Given the description of an element on the screen output the (x, y) to click on. 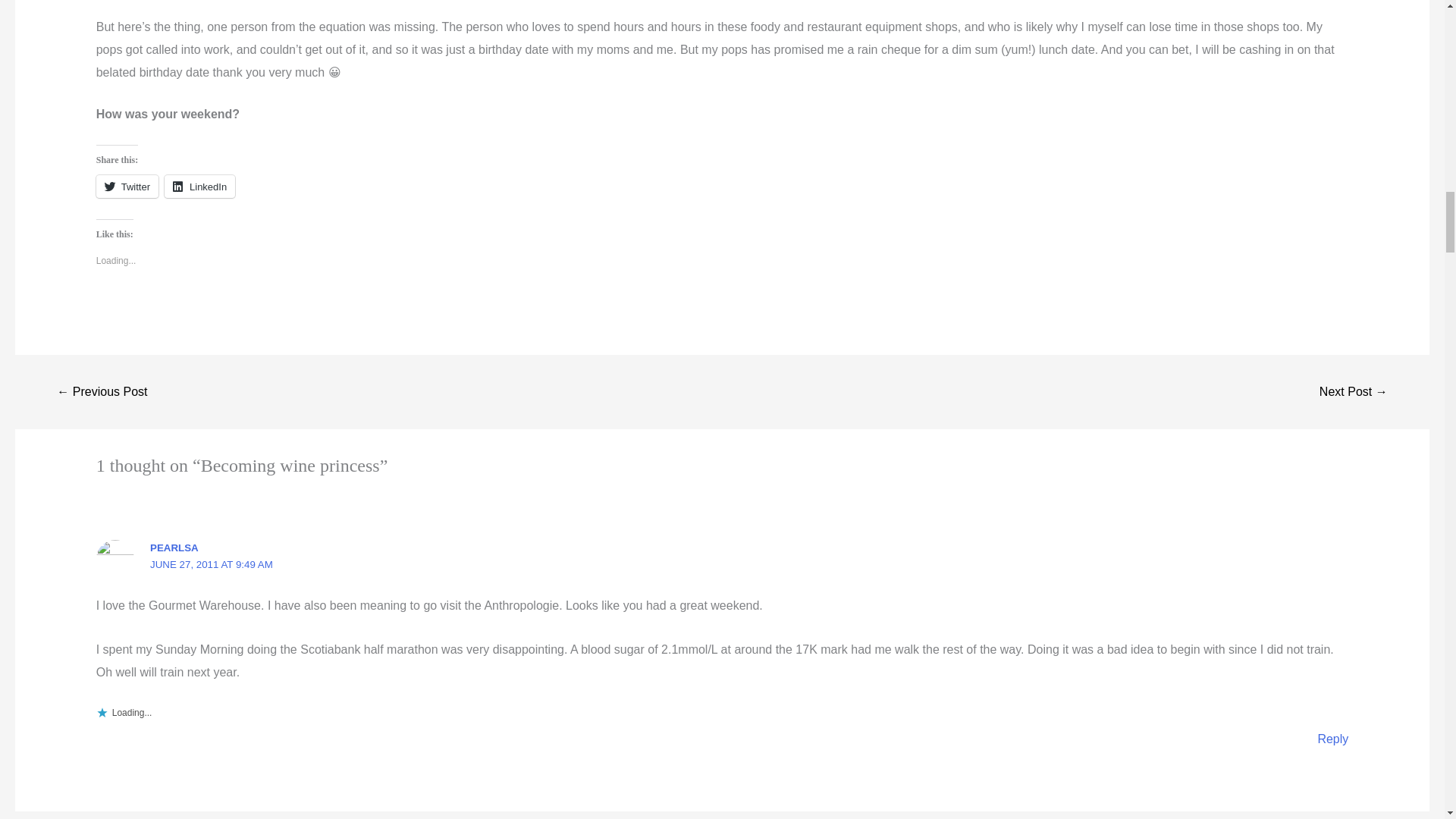
Click to share on LinkedIn (199, 186)
Twitter (127, 186)
Reply (1332, 738)
Click to share on Twitter (127, 186)
PEARLSA (173, 547)
JUNE 27, 2011 AT 9:49 AM (211, 564)
LinkedIn (199, 186)
